Given the description of an element on the screen output the (x, y) to click on. 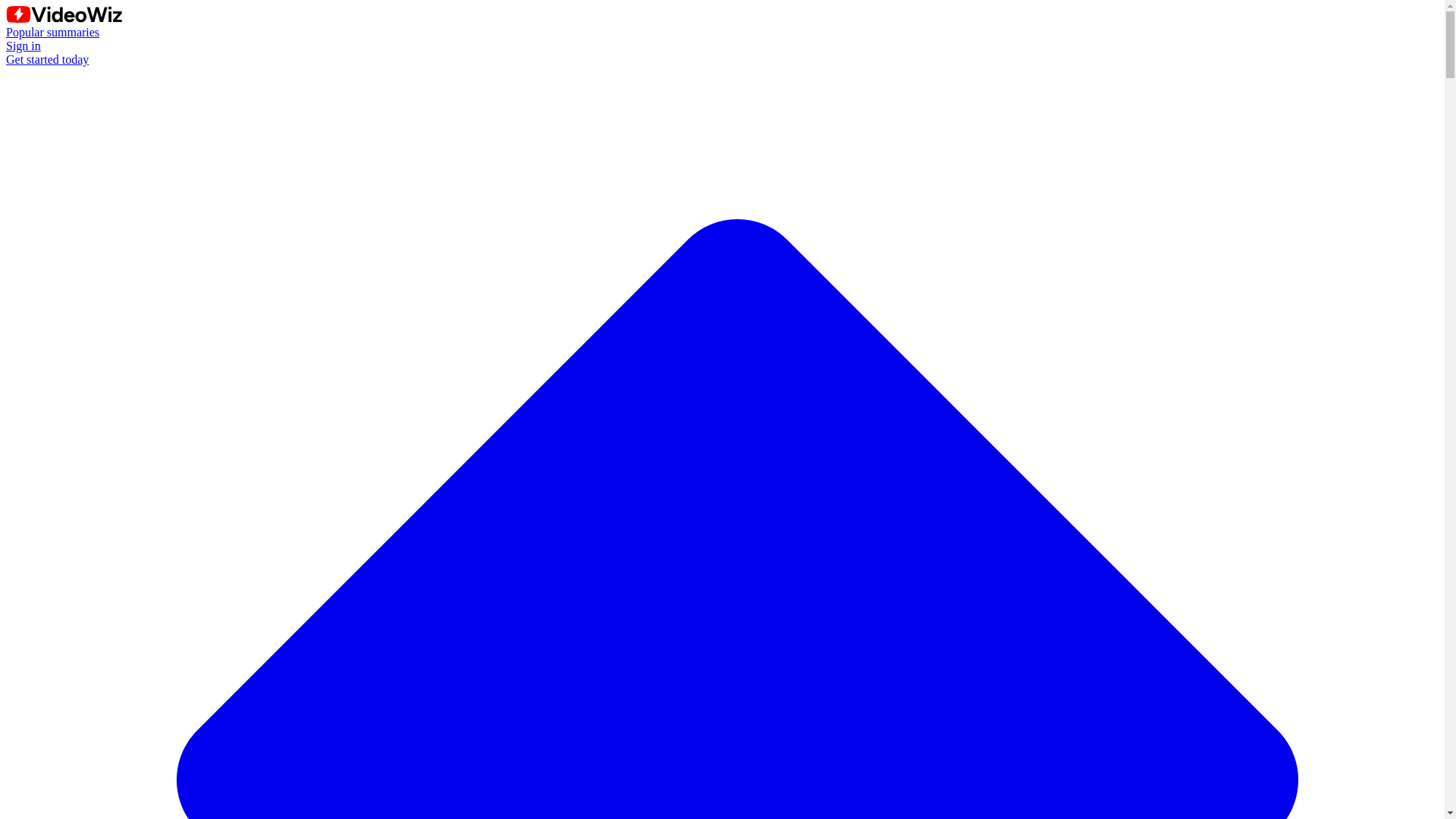
Popular summaries (52, 31)
Get started today (46, 59)
Sign in (22, 45)
